Given the description of an element on the screen output the (x, y) to click on. 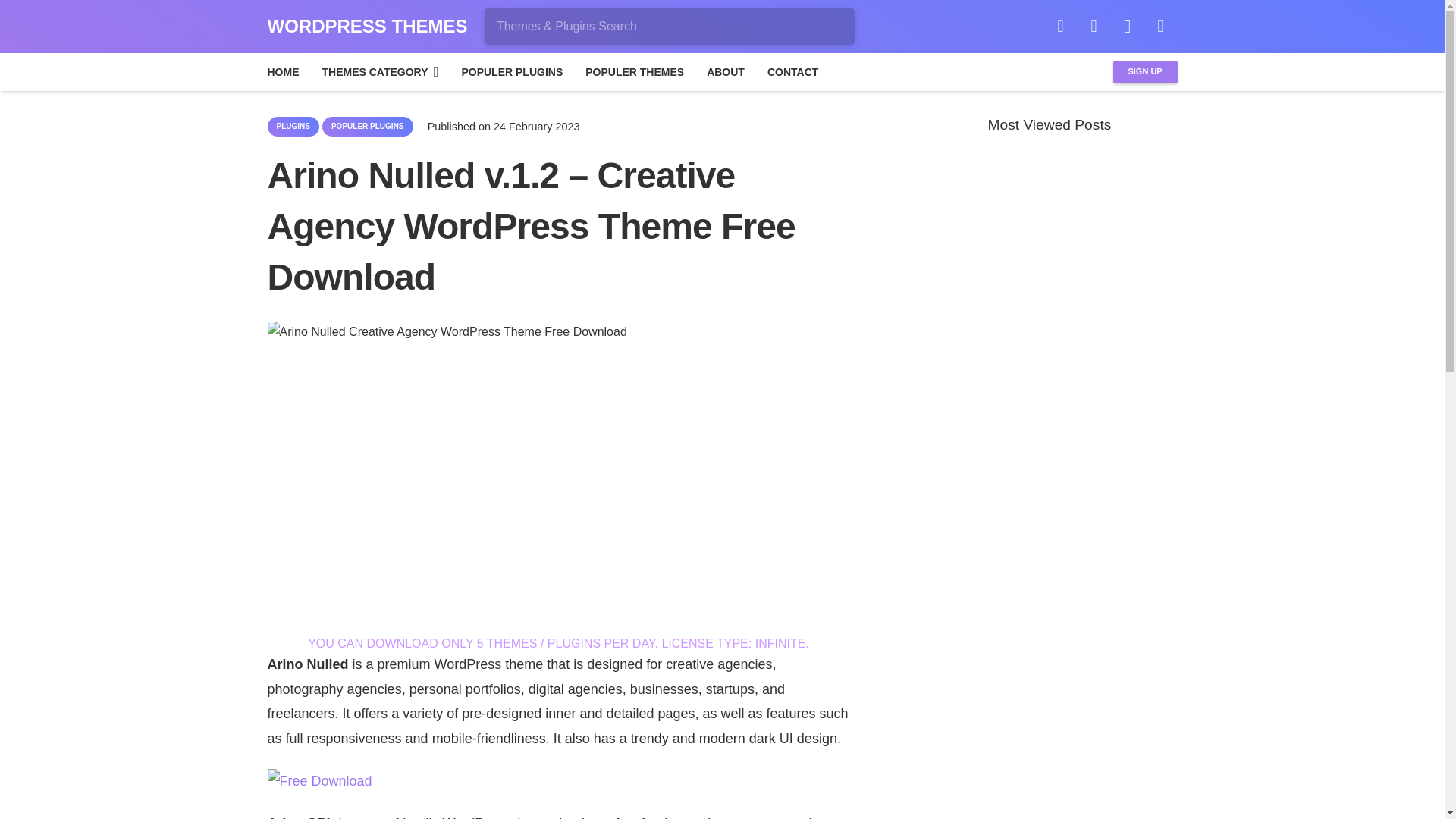
POPULER PLUGINS (367, 126)
HOME (283, 71)
SIGN UP (1145, 72)
Twitter (1093, 26)
POPULER THEMES (634, 71)
THEMES CATEGORY (380, 71)
ABOUT (725, 71)
YouTube (1160, 26)
Instagram (1127, 26)
CONTACT (792, 71)
POPULER PLUGINS (511, 71)
WORDPRESS THEMES (366, 25)
Facebook (1060, 26)
PLUGINS (292, 126)
